Given the description of an element on the screen output the (x, y) to click on. 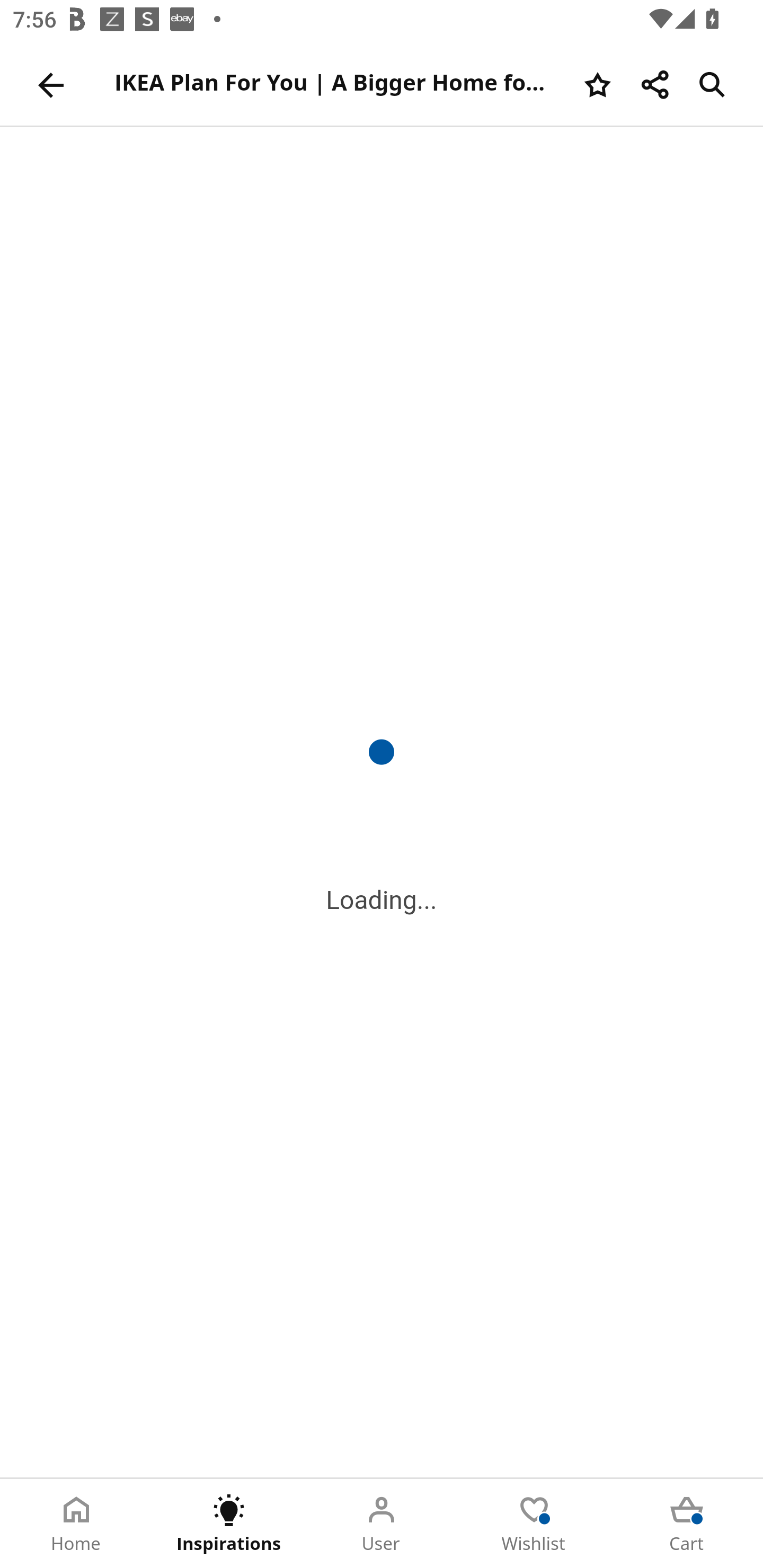
Home
Tab 1 of 5 (76, 1522)
Inspirations
Tab 2 of 5 (228, 1522)
User
Tab 3 of 5 (381, 1522)
Wishlist
Tab 4 of 5 (533, 1522)
Cart
Tab 5 of 5 (686, 1522)
